Given the description of an element on the screen output the (x, y) to click on. 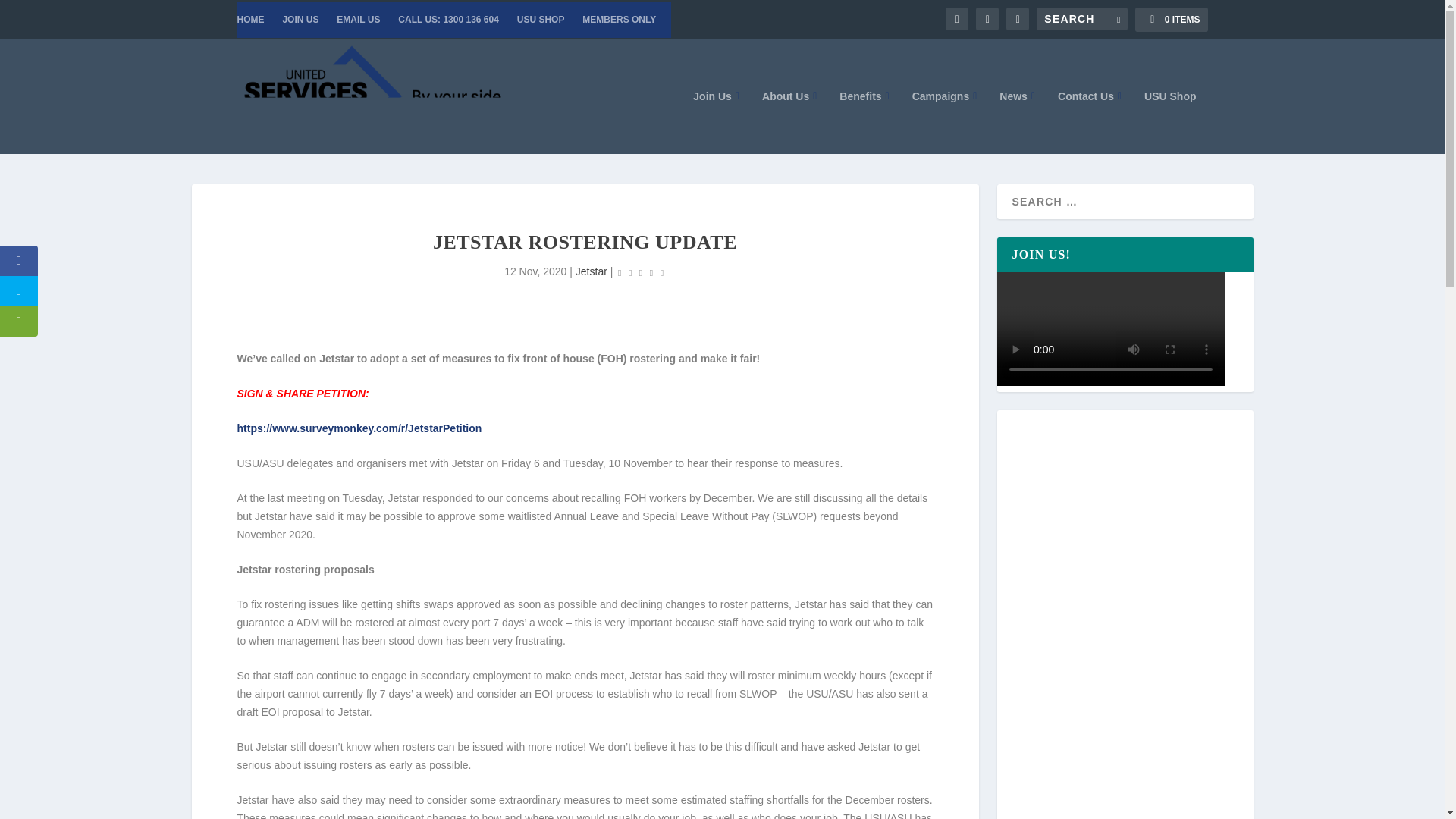
MEMBERS ONLY (619, 19)
0 Items in Cart (1171, 19)
Rating: 0.00 (640, 271)
USU SHOP (540, 19)
0 ITEMS (1171, 19)
JOIN US (300, 19)
Search for: (1081, 18)
EMAIL US (358, 19)
CALL US: 1300 136 604 (448, 19)
